Given the description of an element on the screen output the (x, y) to click on. 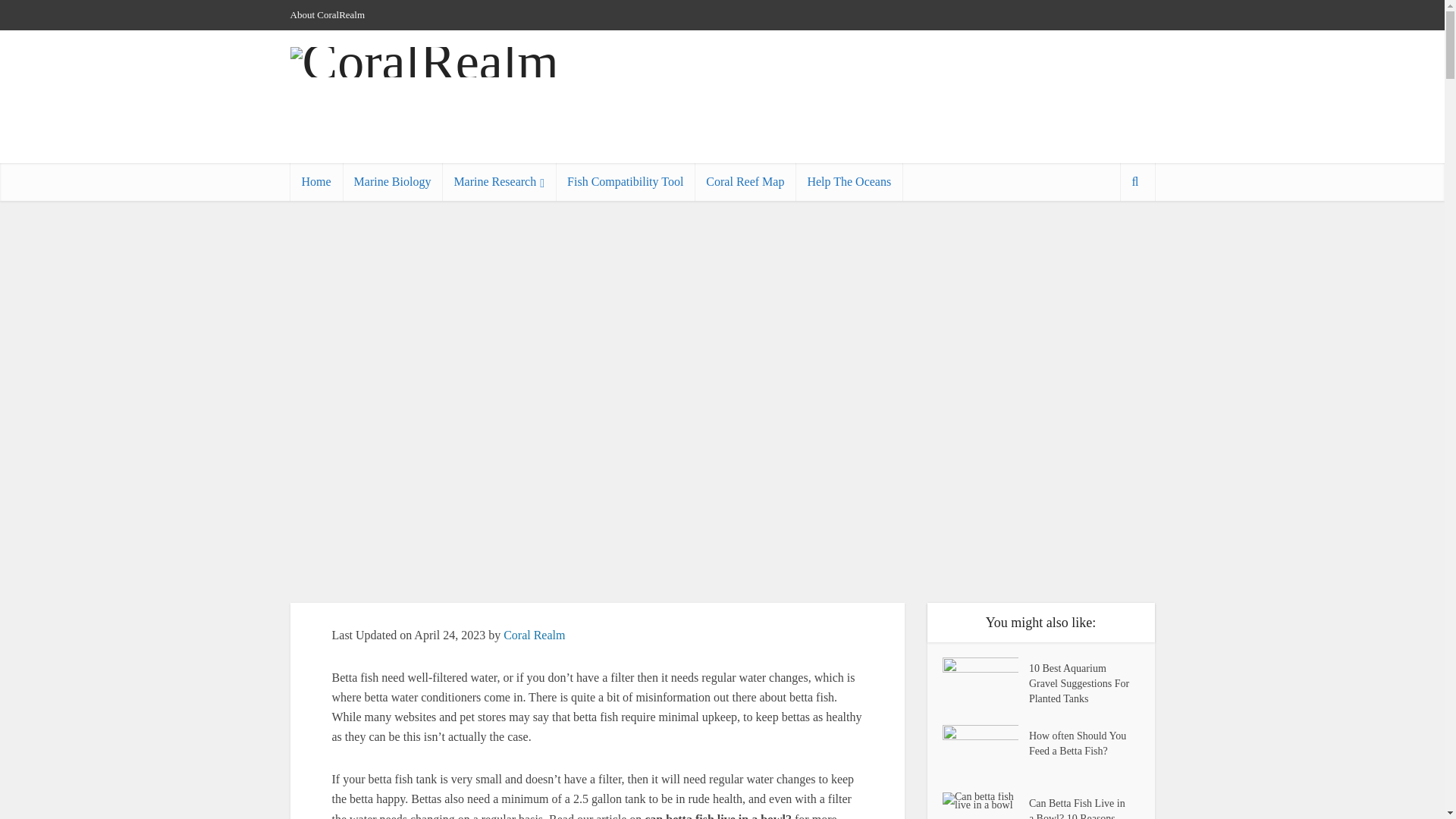
Marine Research (499, 181)
About CoralRealm (327, 14)
Coral Realm (533, 634)
Fish Compatibility Tool (625, 181)
Help The Oceans (848, 181)
Marine Biology (392, 181)
Coral Reef Map (744, 181)
Home (315, 181)
